Given the description of an element on the screen output the (x, y) to click on. 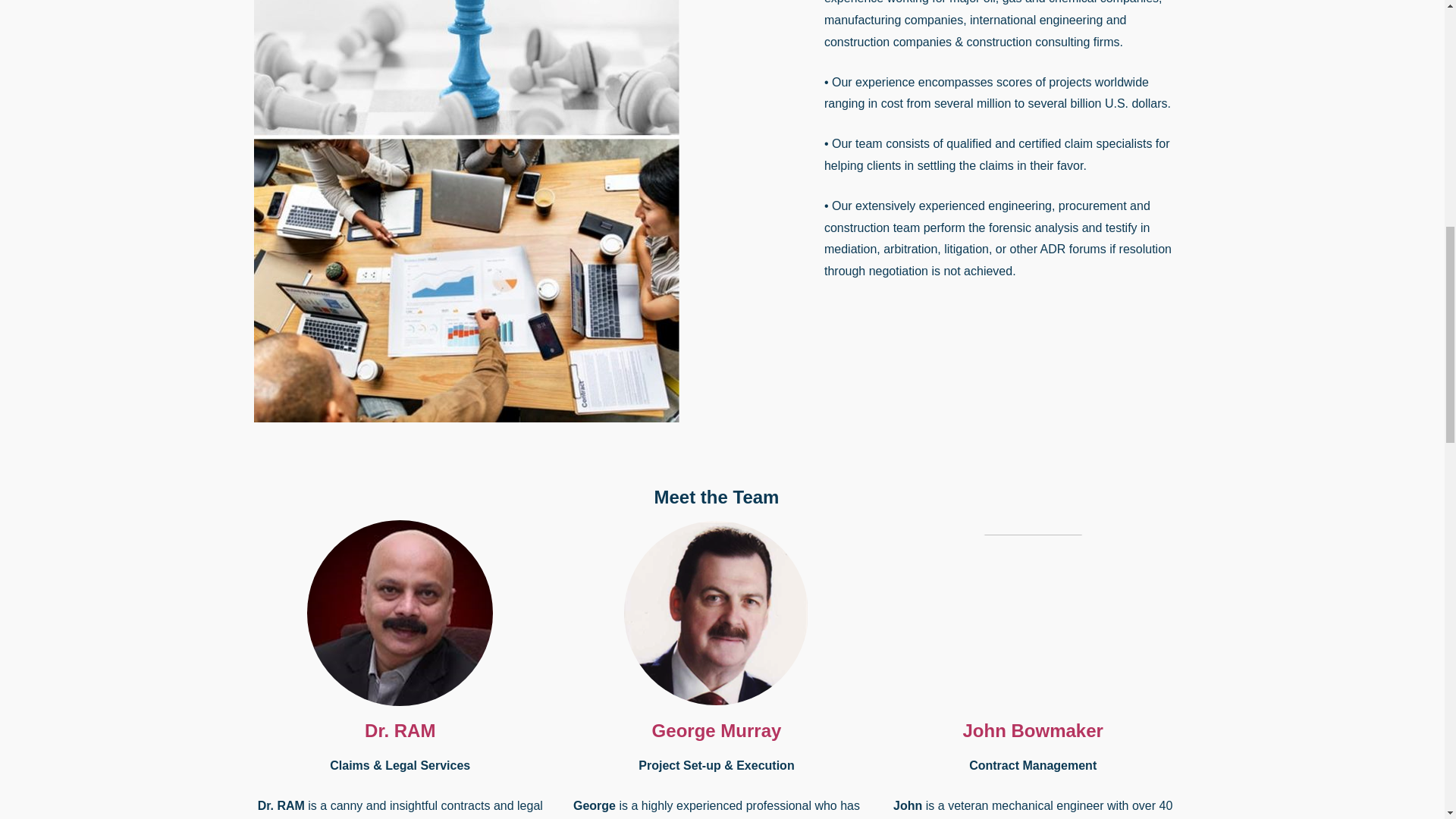
George Murray (716, 730)
John Bowmaker (1032, 730)
Dr. RAM (400, 730)
